Given the description of an element on the screen output the (x, y) to click on. 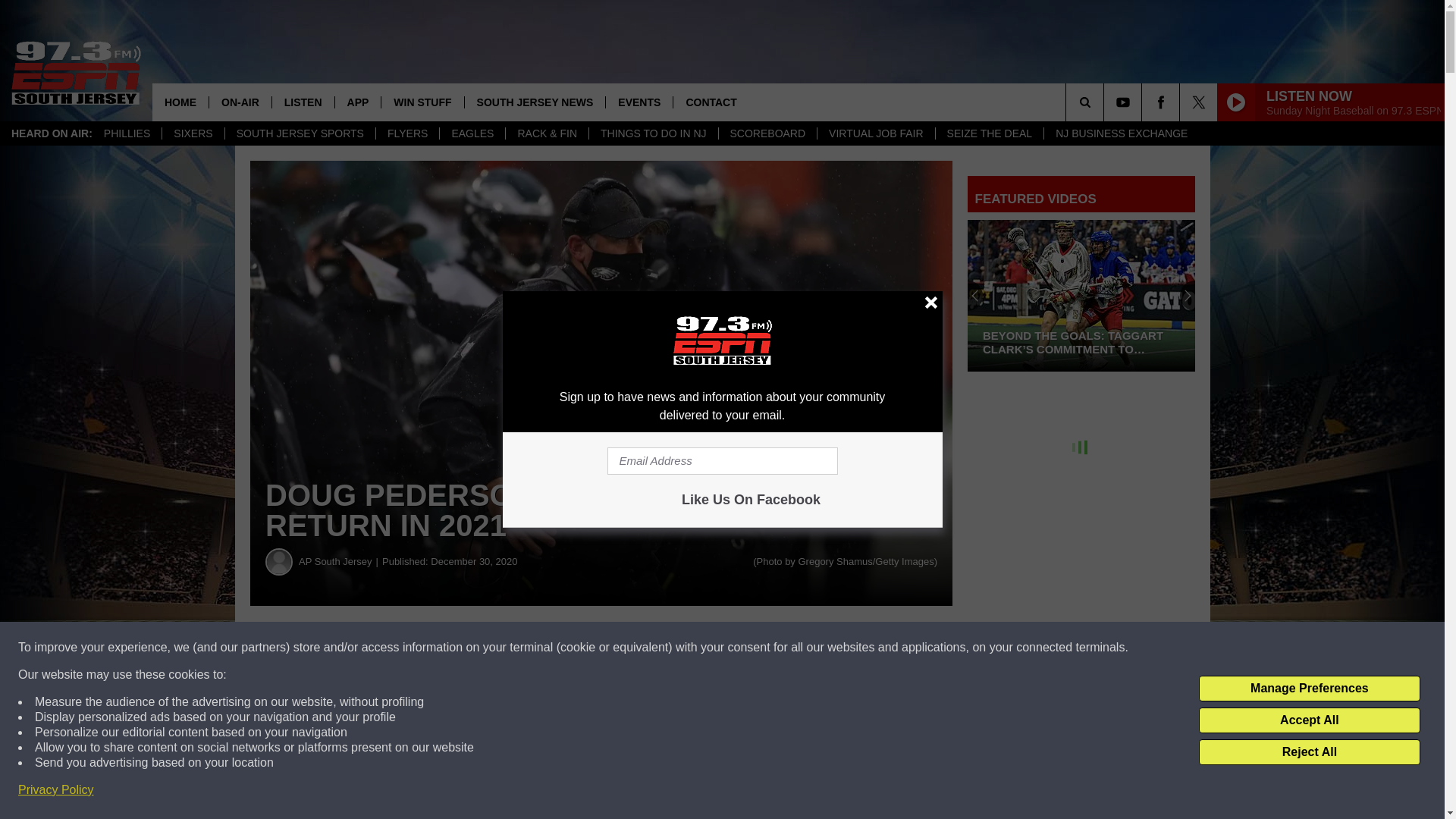
SEARCH (1106, 102)
Privacy Policy (55, 789)
VIRTUAL JOB FAIR (875, 133)
Manage Preferences (1309, 688)
EAGLES (472, 133)
SEIZE THE DEAL (988, 133)
Email Address (722, 461)
LISTEN (302, 102)
Accept All (1309, 720)
Share on Facebook (460, 647)
SCOREBOARD (766, 133)
ON-AIR (239, 102)
THINGS TO DO IN NJ (652, 133)
Share on Twitter (741, 647)
APP (357, 102)
